Given the description of an element on the screen output the (x, y) to click on. 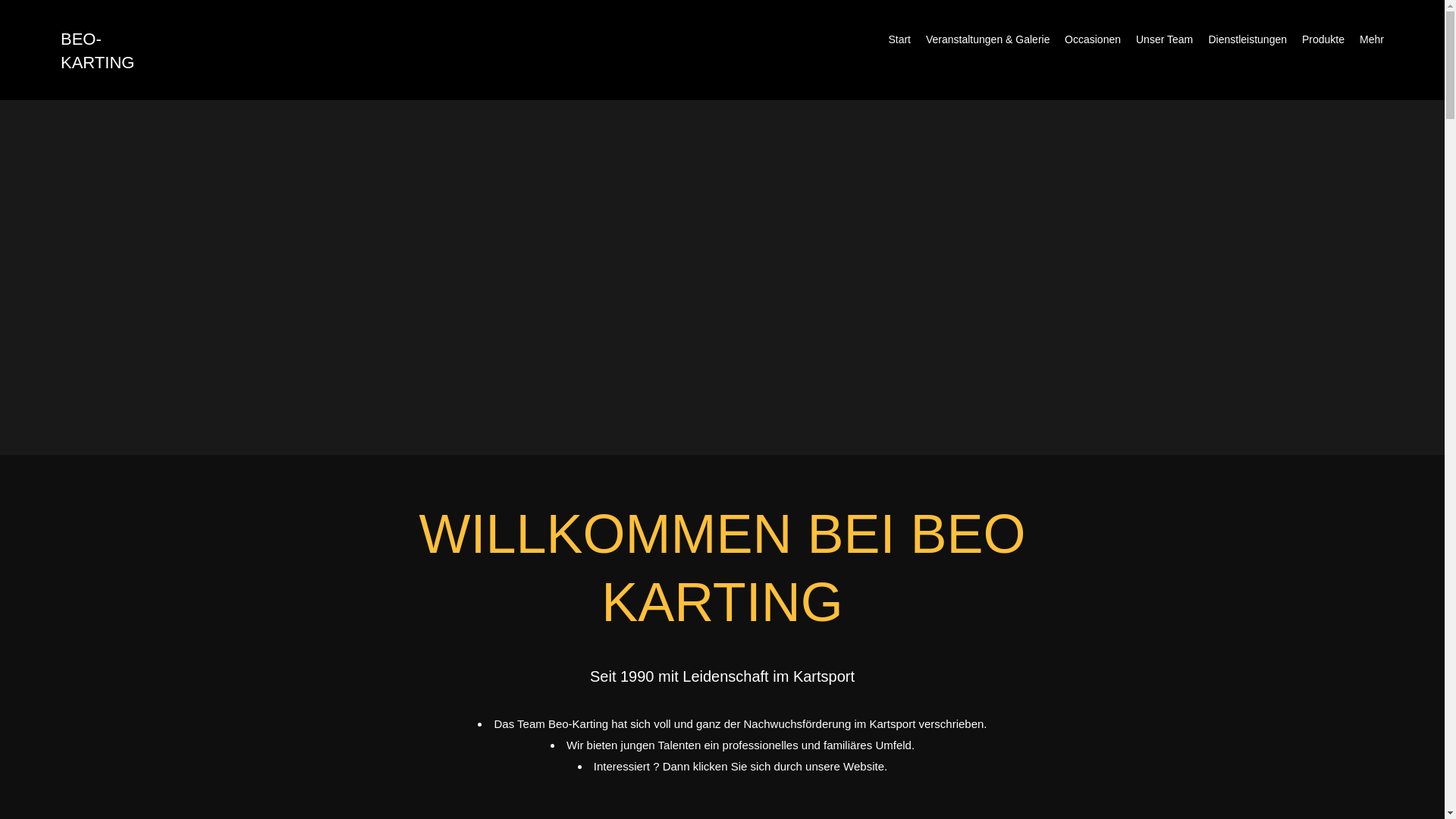
Start Element type: text (899, 39)
Produkte Element type: text (1323, 39)
Veranstaltungen & Galerie Element type: text (987, 39)
Occasionen Element type: text (1092, 39)
Unser Team Element type: text (1164, 39)
Dienstleistungen Element type: text (1247, 39)
BEO-KARTING Element type: text (97, 50)
